Given the description of an element on the screen output the (x, y) to click on. 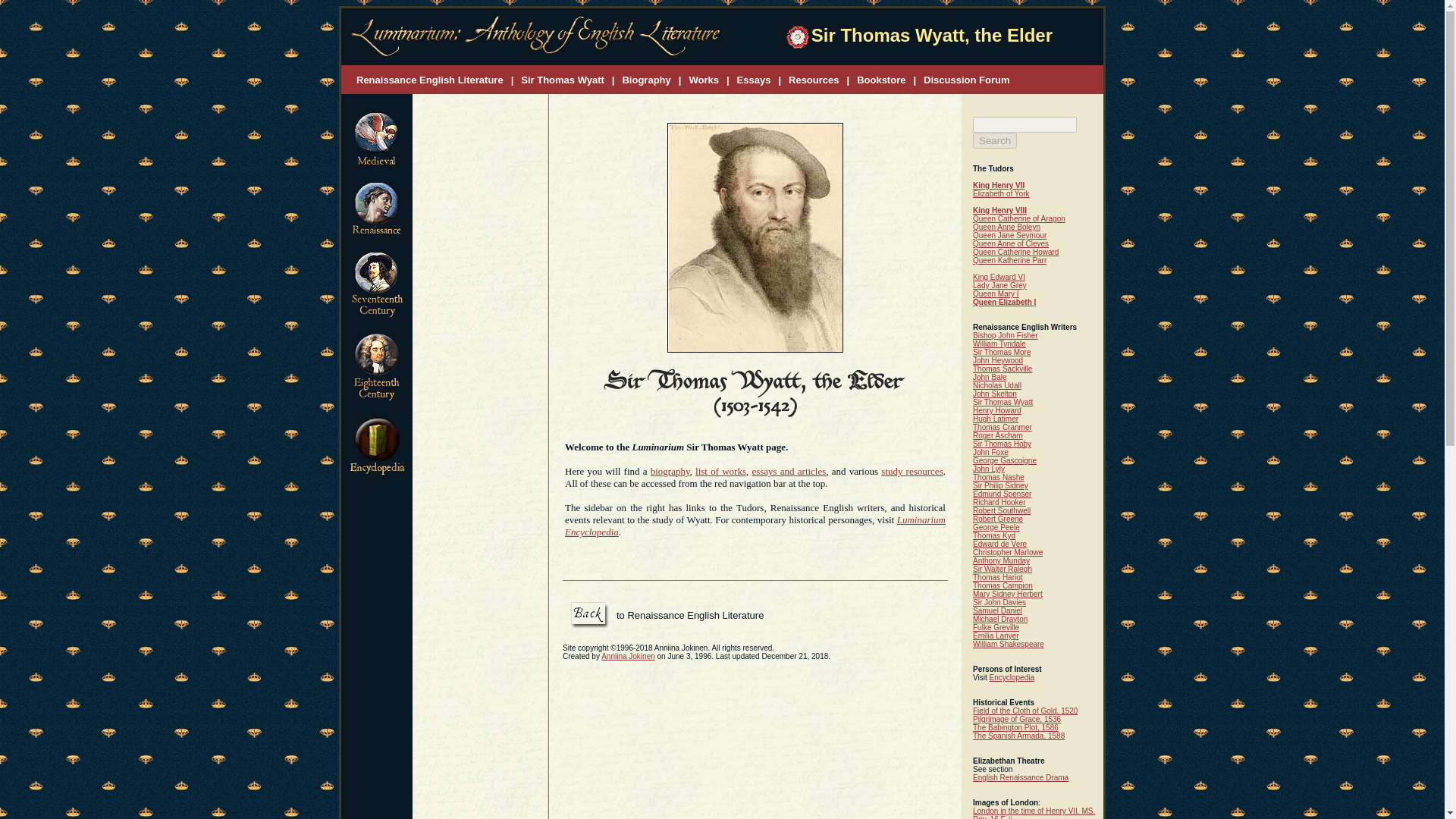
William Tyndale (999, 343)
Queen Elizabeth I (1003, 302)
Luminarium Encyclopedia (754, 525)
King Henry VIII (999, 210)
Resources (813, 78)
Queen Mary I (995, 293)
Works (703, 78)
Essays (753, 78)
Queen Catherine of Aragon (1018, 218)
Lady Jane Grey (999, 285)
Queen Catherine Howard (1015, 252)
Queen Katherine Parr (1009, 260)
Queen Anne Boleyn (1006, 226)
King Edward VI (998, 276)
Bookstore (881, 78)
